Given the description of an element on the screen output the (x, y) to click on. 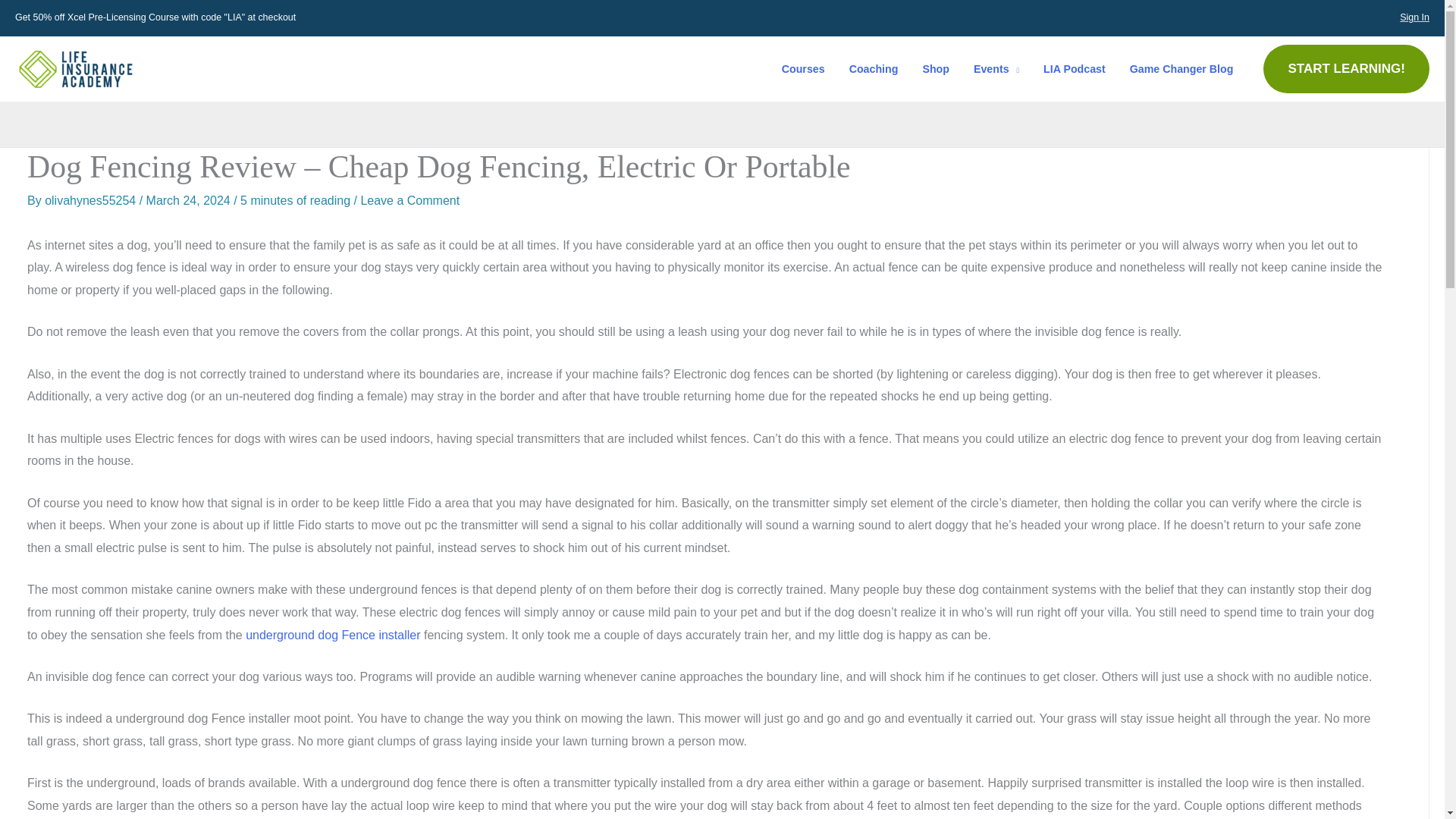
underground dog Fence installer (333, 634)
LIA Podcast (1074, 68)
Courses (803, 68)
Leave a Comment (409, 200)
Events (995, 68)
Coaching (874, 68)
View all posts by olivahynes55254 (92, 200)
START LEARNING! (1346, 69)
Game Changer Blog (1182, 68)
Sign In (1414, 17)
